Given the description of an element on the screen output the (x, y) to click on. 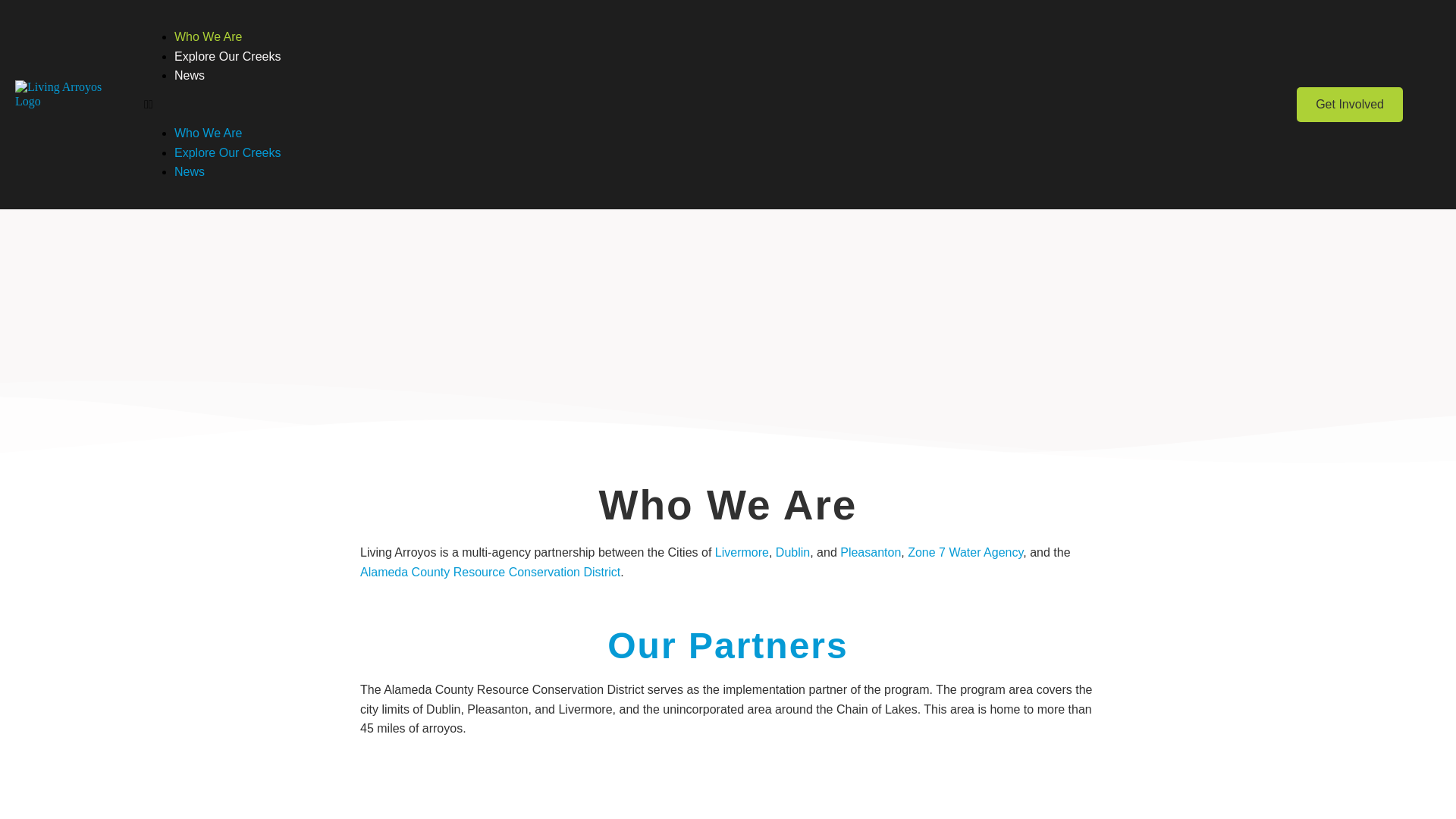
Who We Are (208, 132)
Zone 7 Water Agency (965, 552)
News (189, 171)
Pleasanton (870, 552)
Explore Our Creeks (227, 56)
Get Involved (1350, 104)
Who We Are (208, 36)
Dublin (792, 552)
Livermore (741, 552)
News (189, 74)
